Given the description of an element on the screen output the (x, y) to click on. 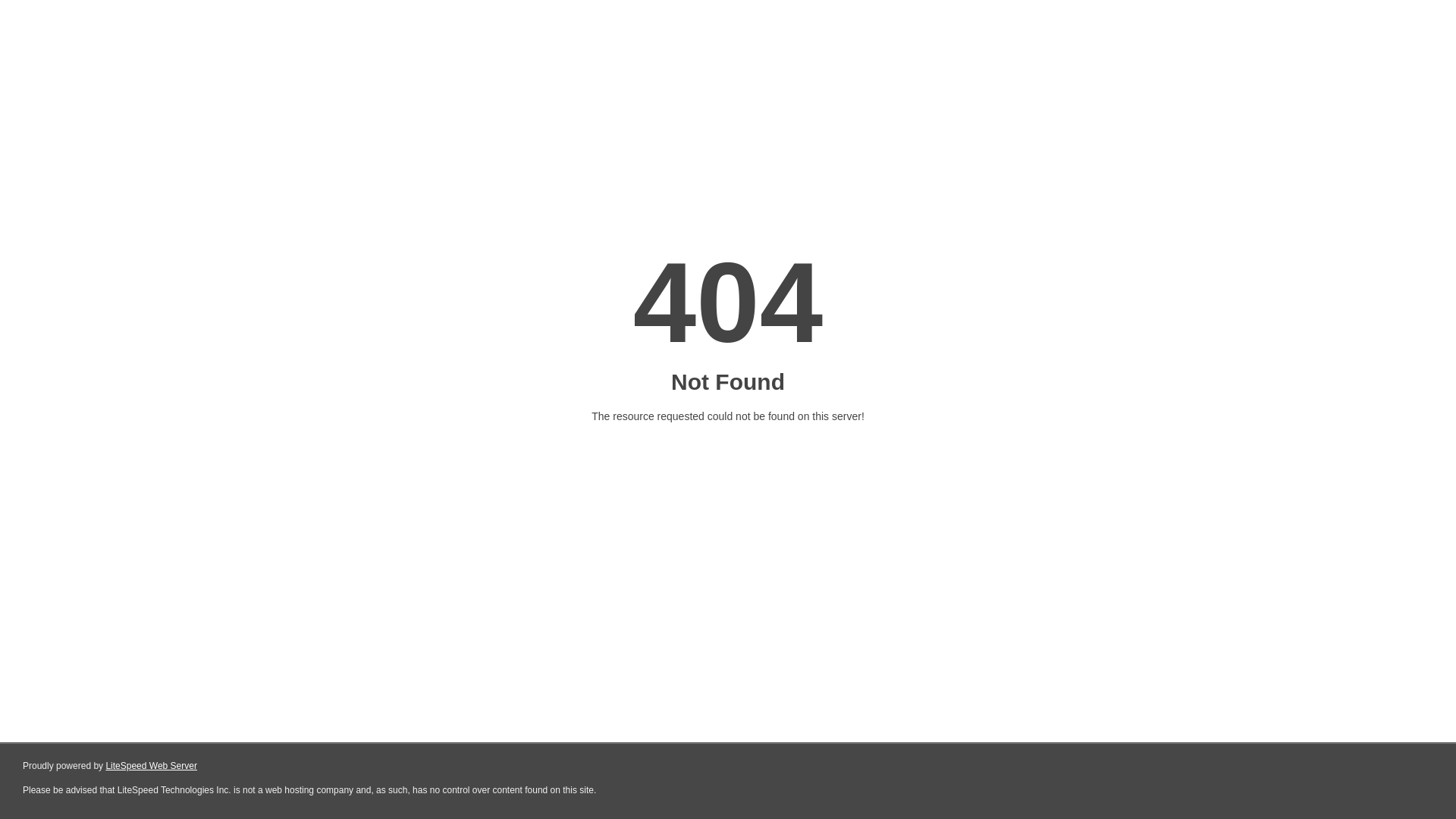
LiteSpeed Web Server Element type: text (151, 765)
